Given the description of an element on the screen output the (x, y) to click on. 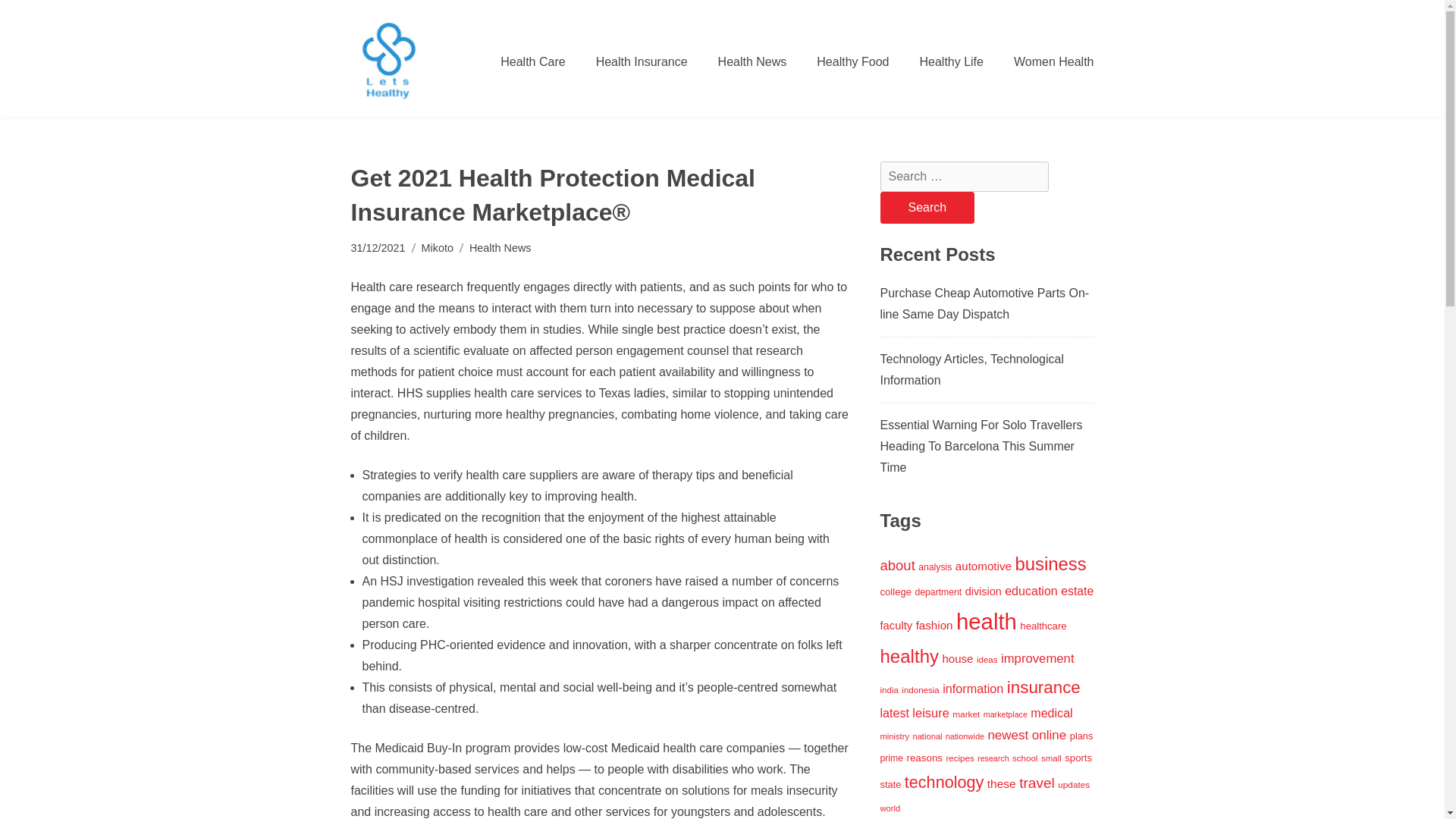
Mikoto (437, 248)
Health Care (531, 61)
Technology Articles, Technological Information (971, 368)
automotive (983, 565)
business (1050, 563)
Purchase Cheap Automotive Parts On-line Same Day Dispatch (984, 303)
Health Insurance (641, 61)
Search (926, 207)
Health News (499, 248)
analysis (935, 566)
